Given the description of an element on the screen output the (x, y) to click on. 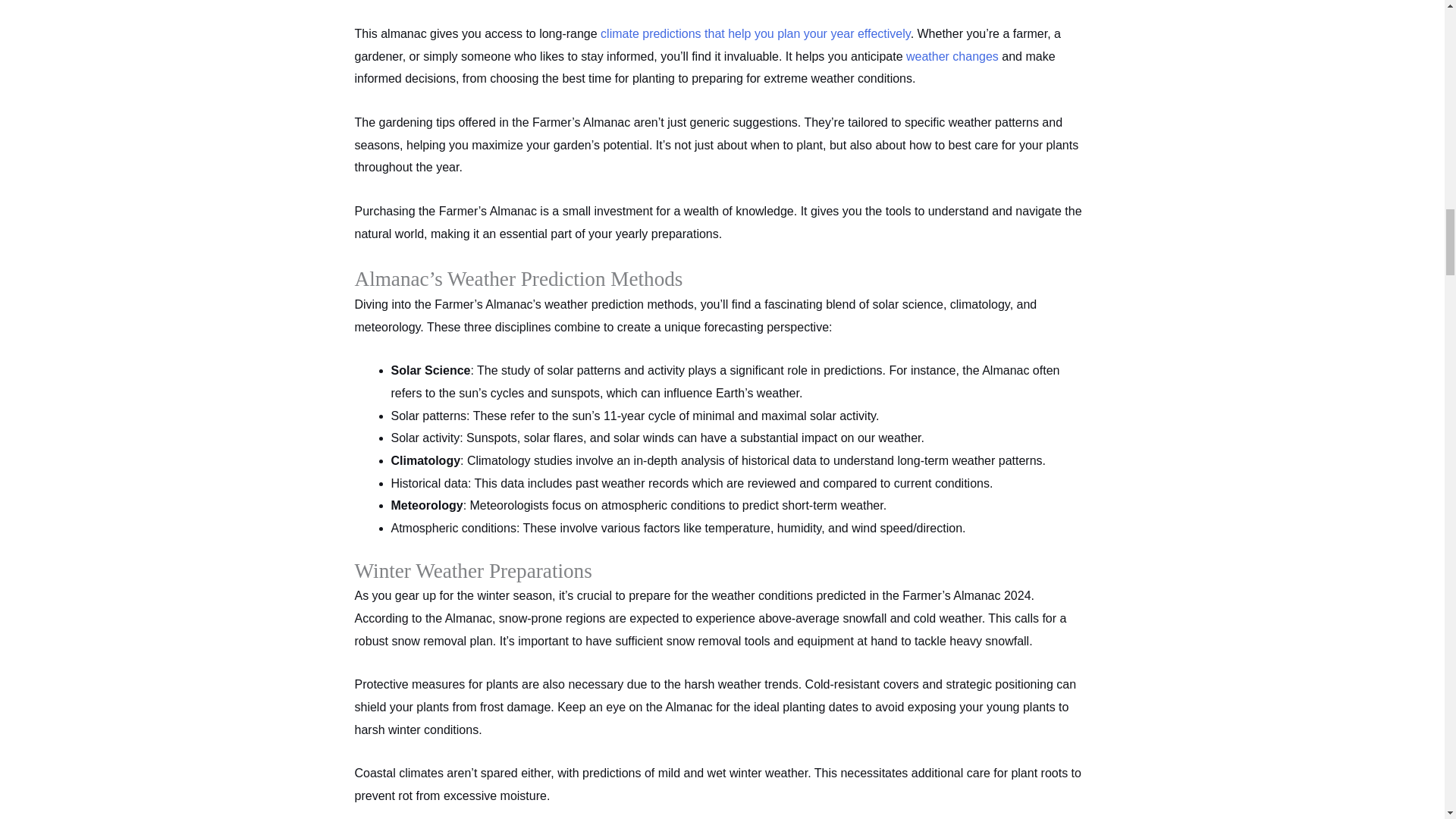
weather changes (951, 56)
climate predictions that help you plan your year effectively (755, 33)
